Given the description of an element on the screen output the (x, y) to click on. 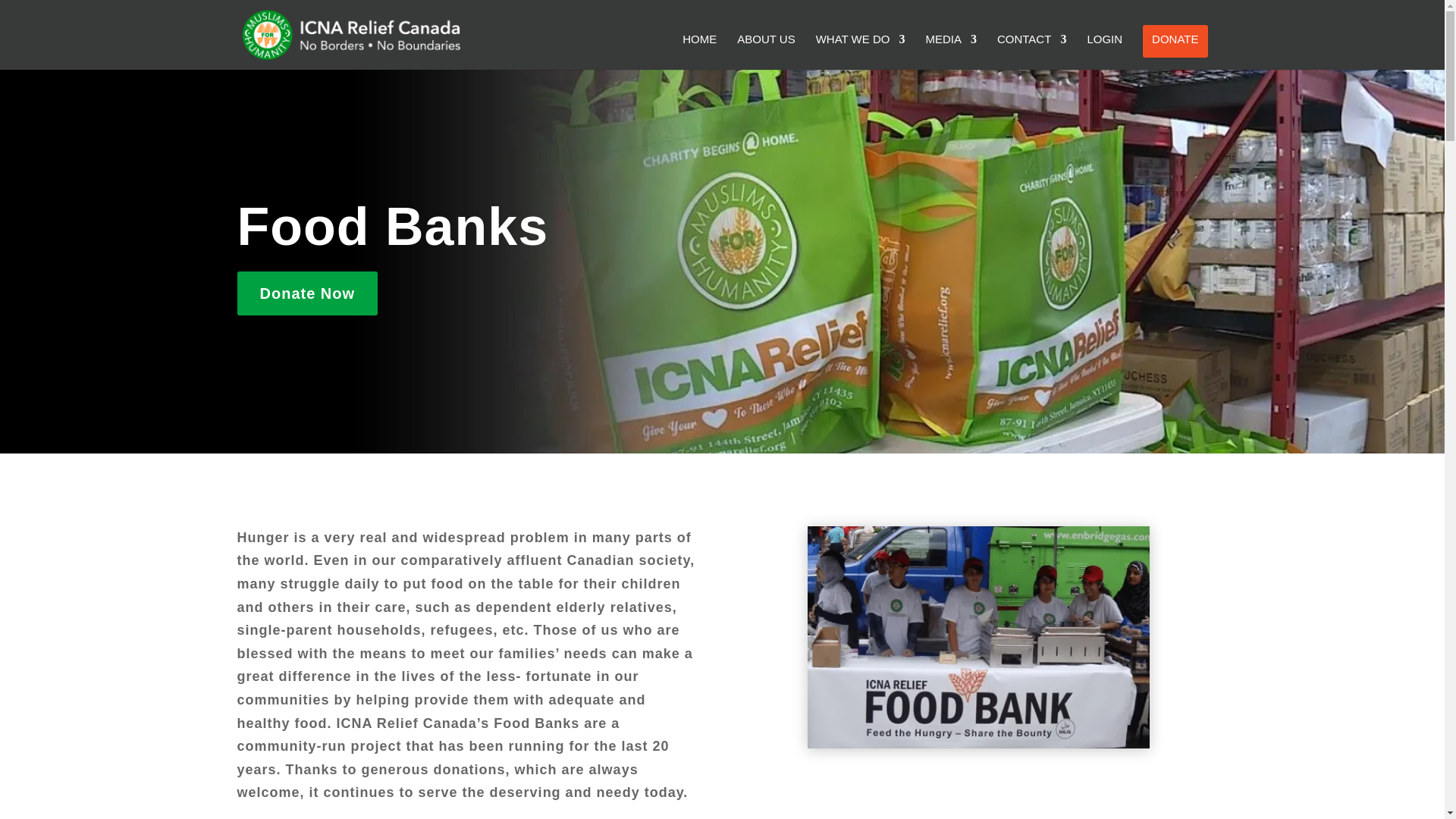
foodbank (979, 637)
ABOUT US (765, 51)
CONTACT (1031, 51)
HOME (699, 51)
DONATE (1174, 41)
LOGIN (1104, 51)
MEDIA (950, 51)
WHAT WE DO (860, 51)
